Given the description of an element on the screen output the (x, y) to click on. 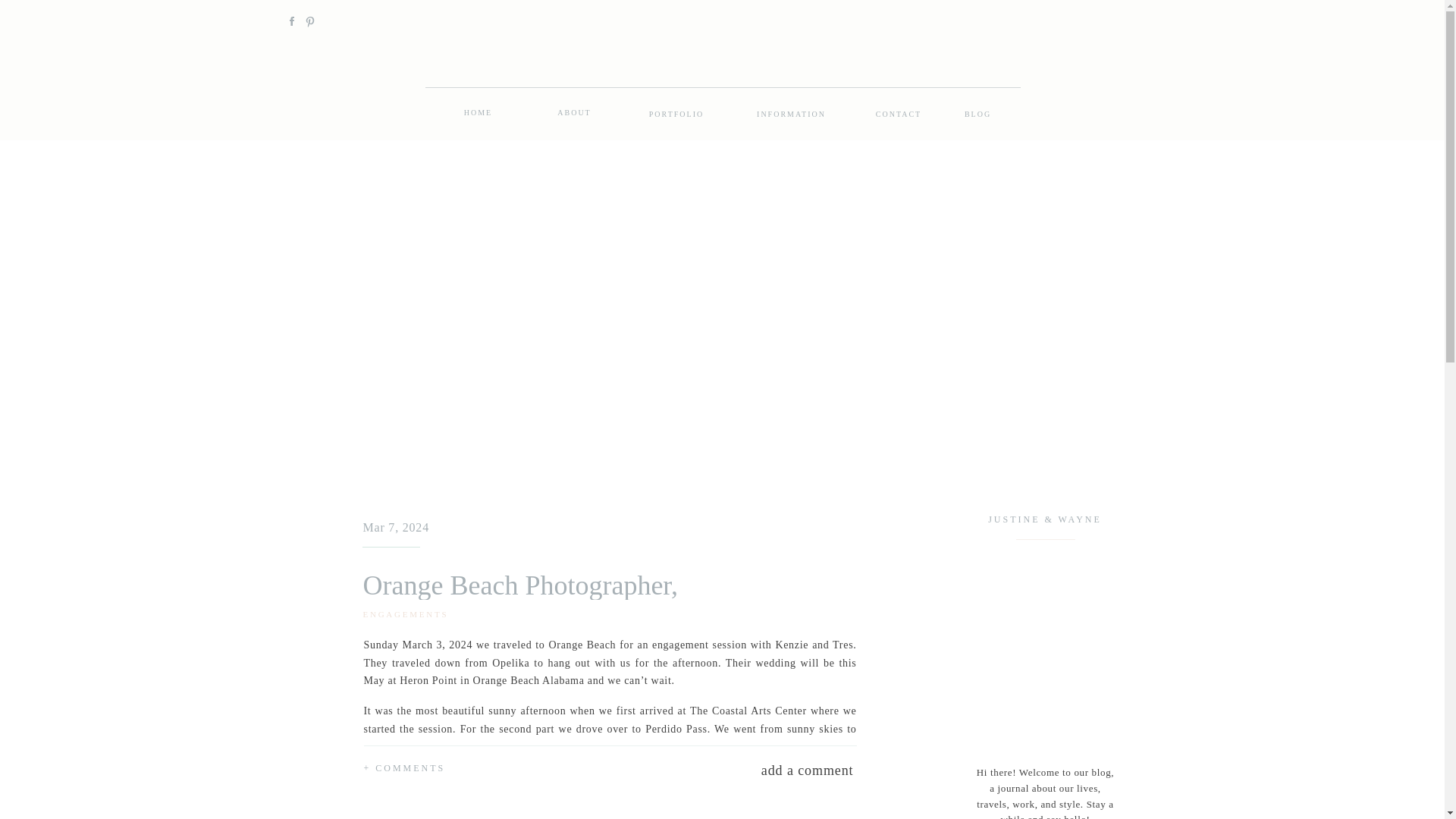
PORTFOLIO (676, 114)
BLOG (976, 114)
HOME (479, 112)
INFORMATION (791, 114)
CONTACT (898, 114)
ENGAGEMENTS (405, 614)
ABOUT (574, 112)
add a comment (754, 766)
